Given the description of an element on the screen output the (x, y) to click on. 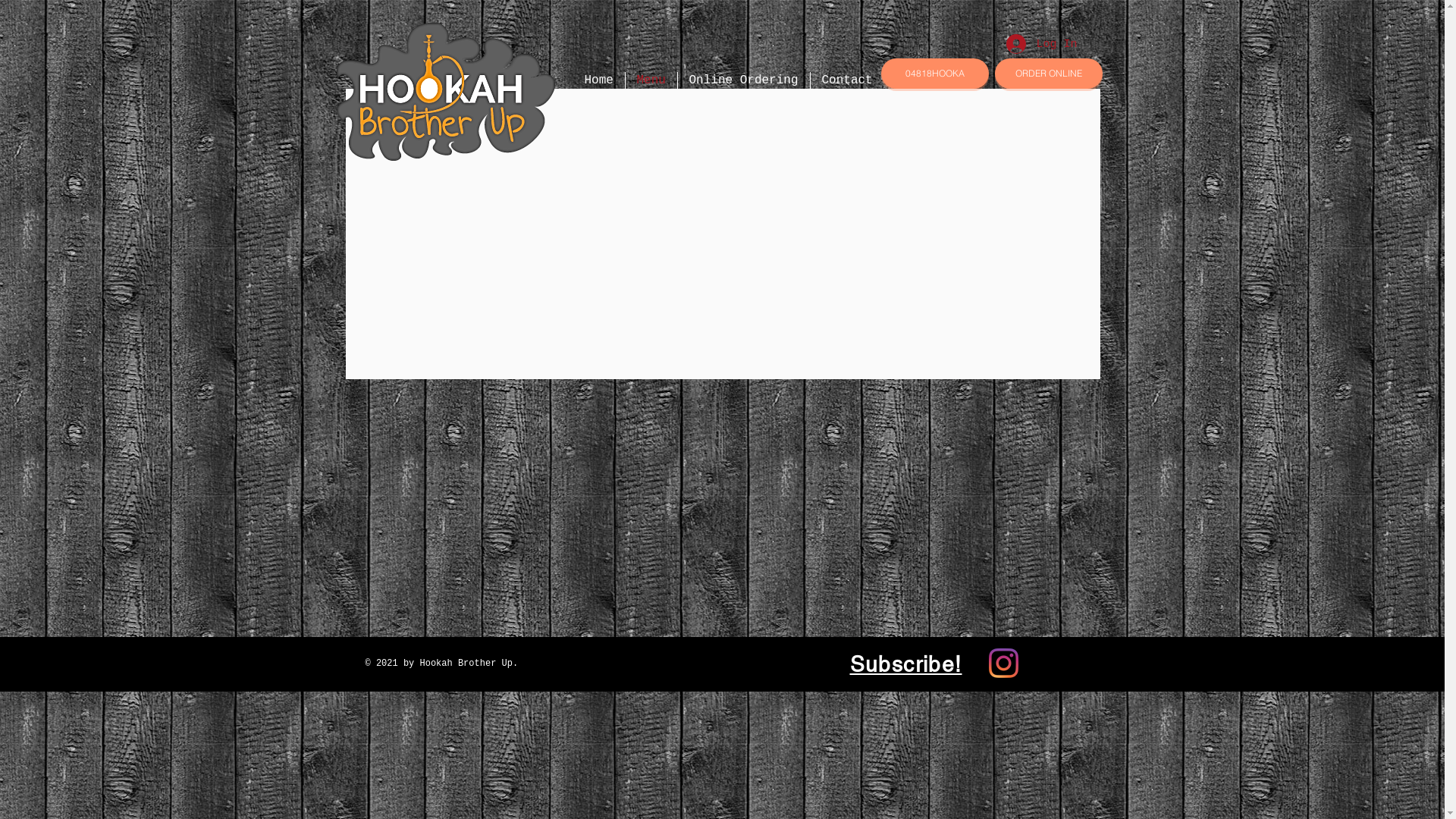
Contact Element type: text (846, 80)
Subscribe! Element type: text (905, 664)
04818HOOKA Element type: text (934, 73)
Home Element type: text (598, 80)
Menu Element type: text (650, 80)
Online Ordering Element type: text (743, 80)
Log In Element type: text (1039, 43)
ORDER ONLINE Element type: text (1048, 73)
